Given the description of an element on the screen output the (x, y) to click on. 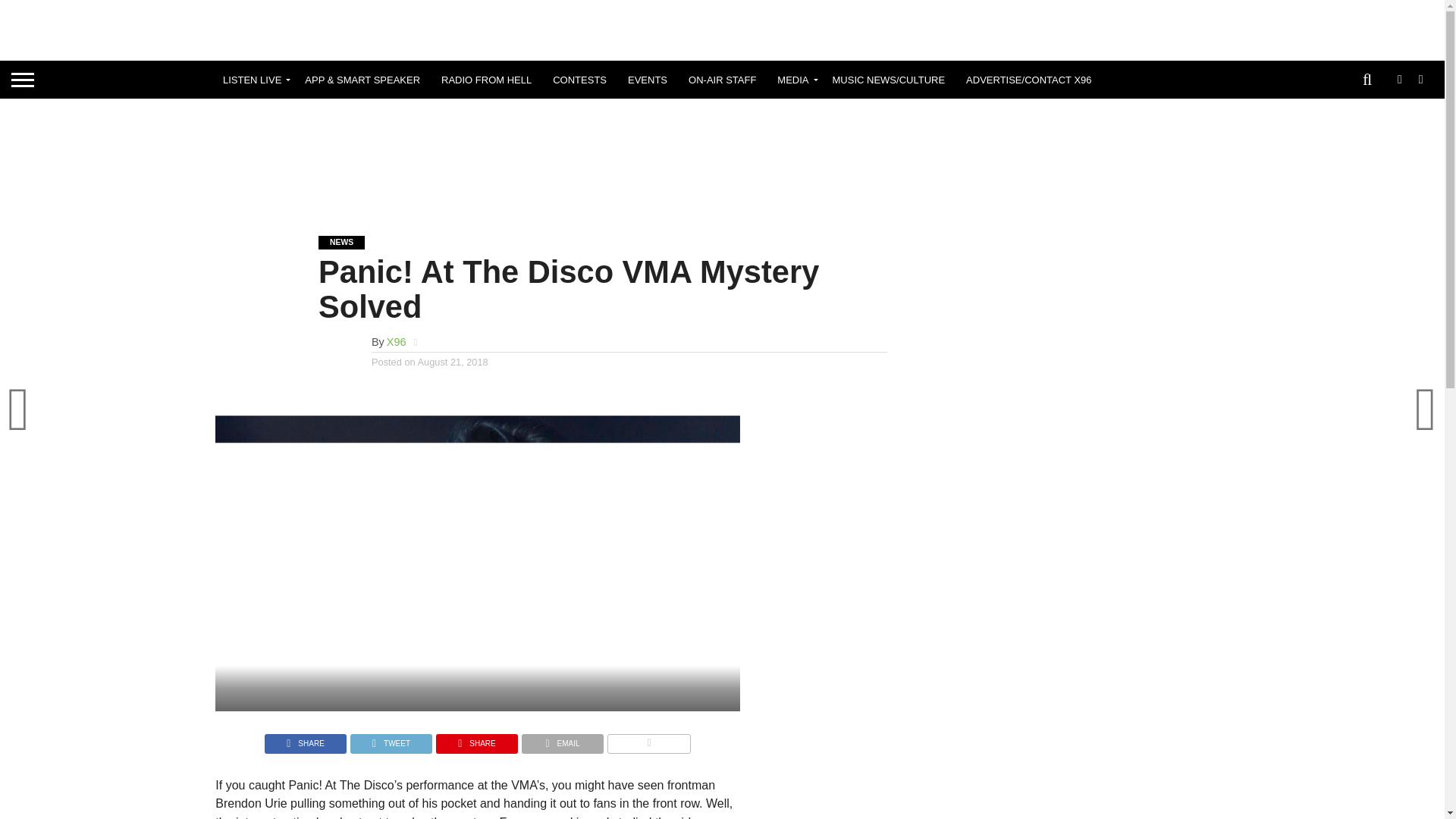
Advertisement (721, 156)
RADIO FROM HELL (485, 79)
MEDIA (794, 79)
LISTEN LIVE (253, 79)
ON-AIR STAFF (722, 79)
Tweet This Post (390, 739)
CONTESTS (579, 79)
EVENTS (647, 79)
Posts by X96 (396, 341)
